Given the description of an element on the screen output the (x, y) to click on. 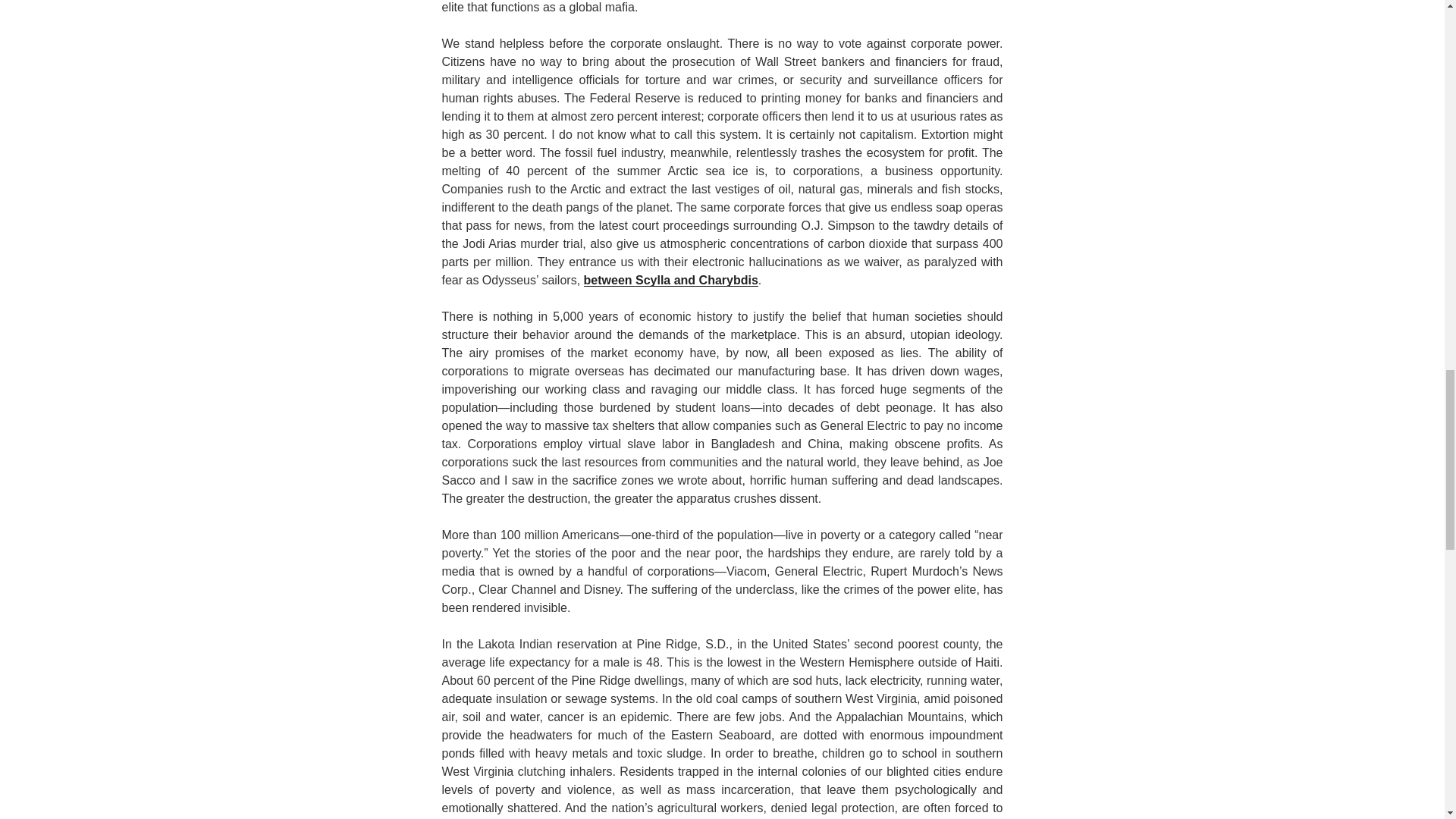
between Scylla and Charybdis (670, 279)
